Given the description of an element on the screen output the (x, y) to click on. 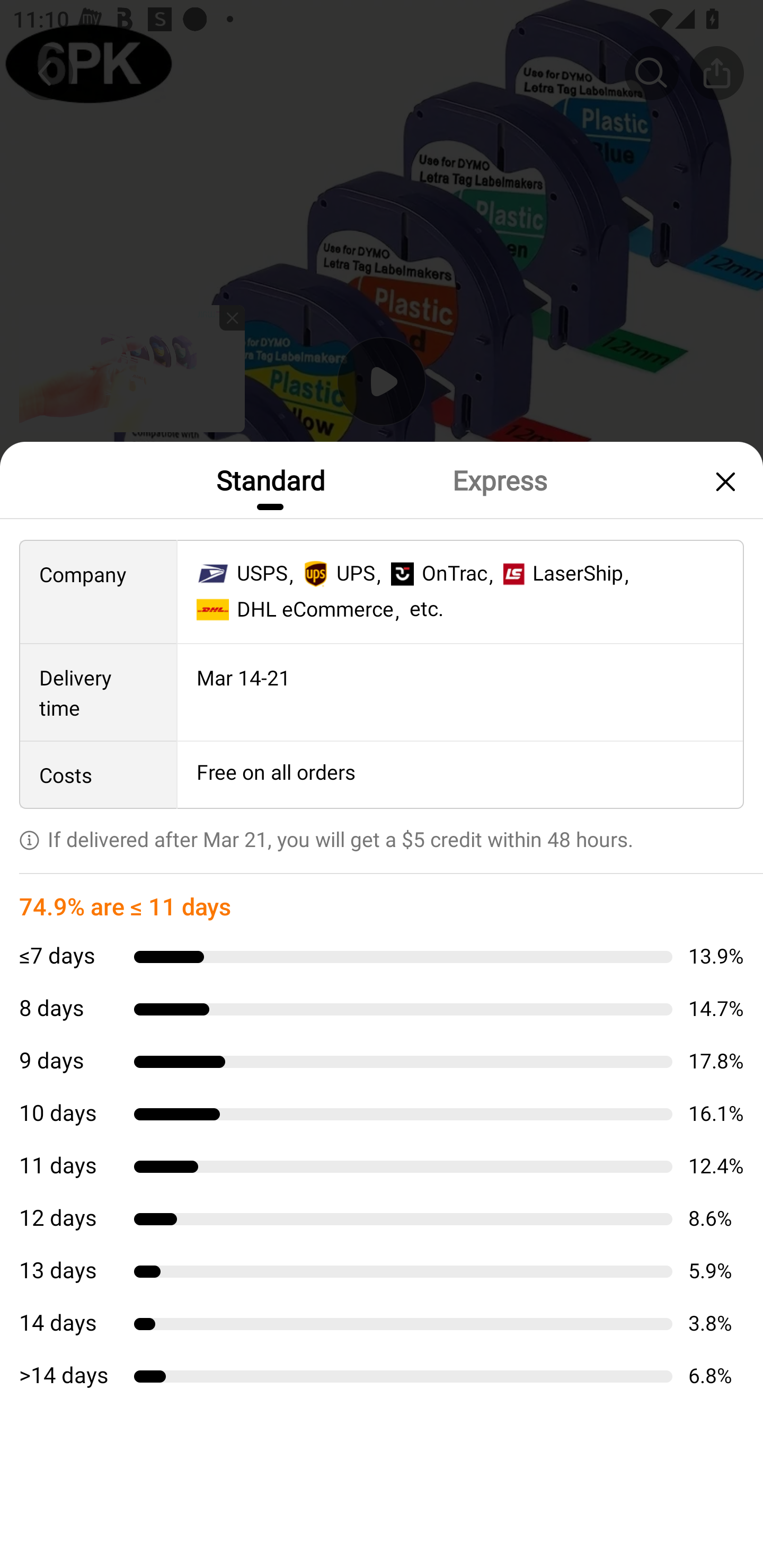
Standard (269, 479)
Express (499, 479)
close (723, 481)
Free shipping on all orders Exclusive offer (381, 836)
￼ ￼ ￼ 4 interest-free biweekly installments ￼ (381, 902)
